Given the description of an element on the screen output the (x, y) to click on. 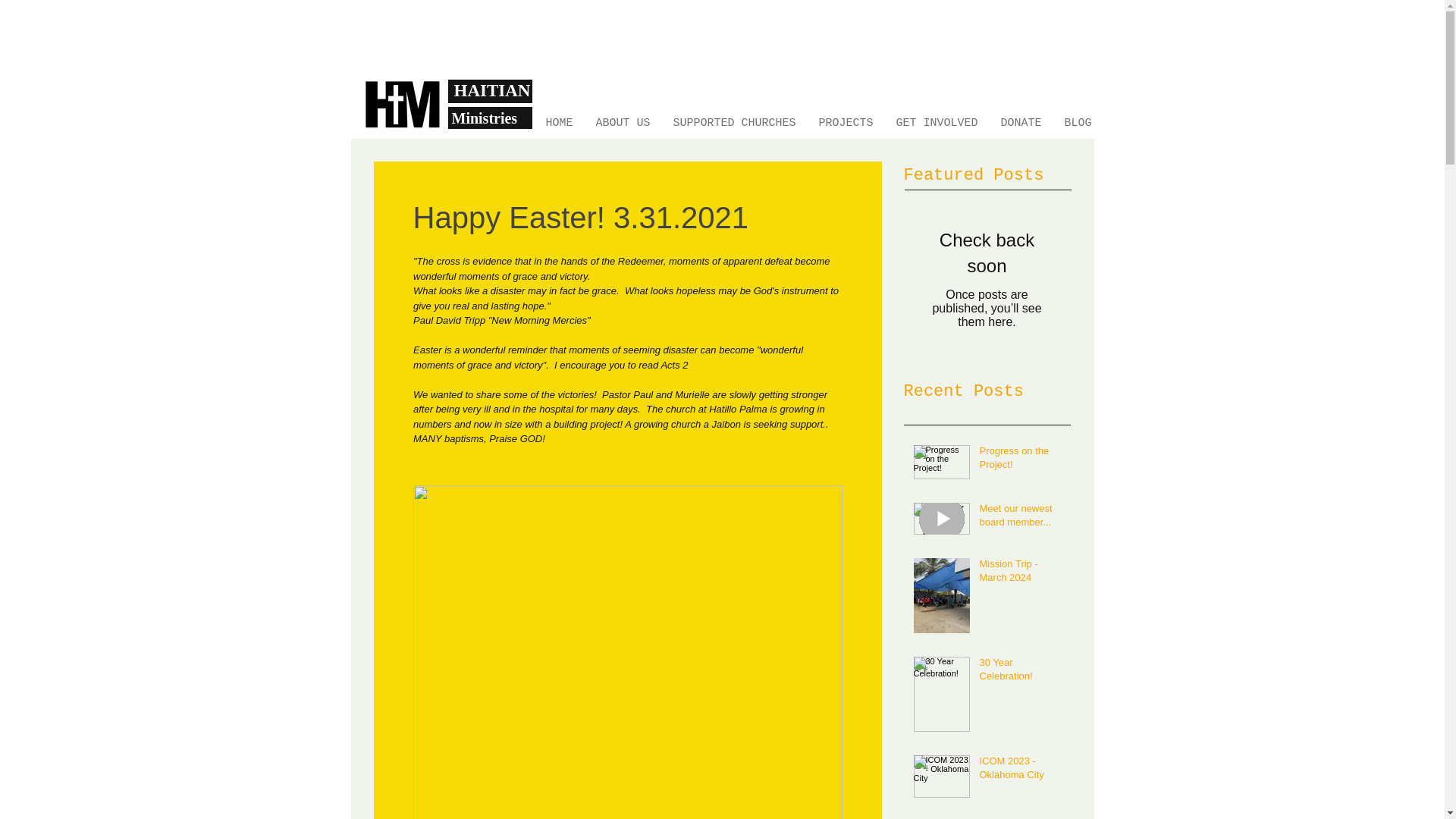
BLOG (1077, 121)
Haitian Ministries (401, 103)
PROJECTS (844, 121)
Progress on the Project! (1020, 460)
HOME (558, 121)
ICOM 2023 - Oklahoma City (1020, 770)
Mission Trip - March 2024 (1020, 573)
GET INVOLVED (935, 121)
DONATE (1020, 121)
Meet our newest board member... (1020, 518)
ABOUT US (622, 121)
30 Year Celebration! (1020, 672)
SUPPORTED CHURCHES (733, 121)
